Given the description of an element on the screen output the (x, y) to click on. 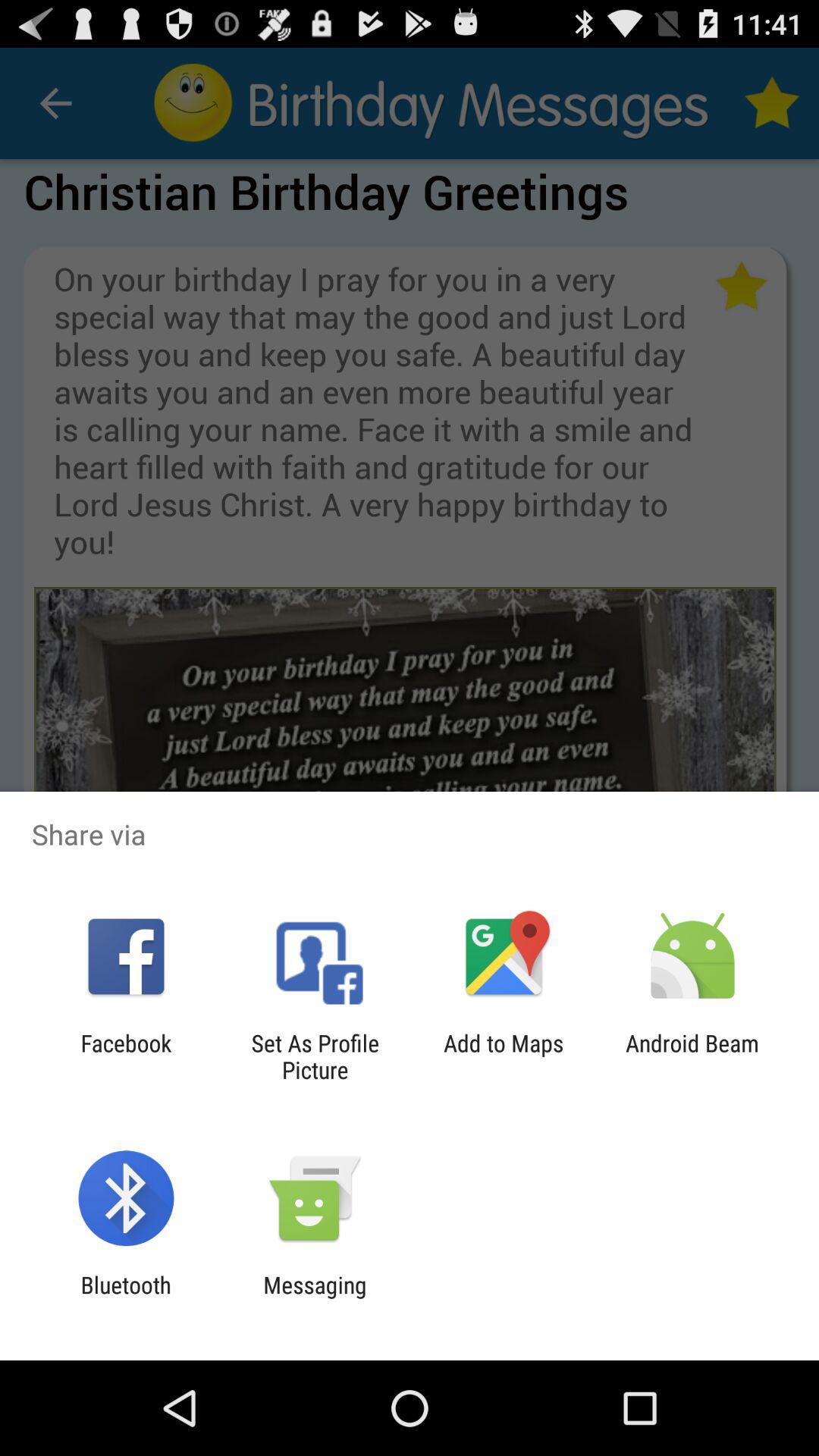
choose the icon next to the android beam app (503, 1056)
